Given the description of an element on the screen output the (x, y) to click on. 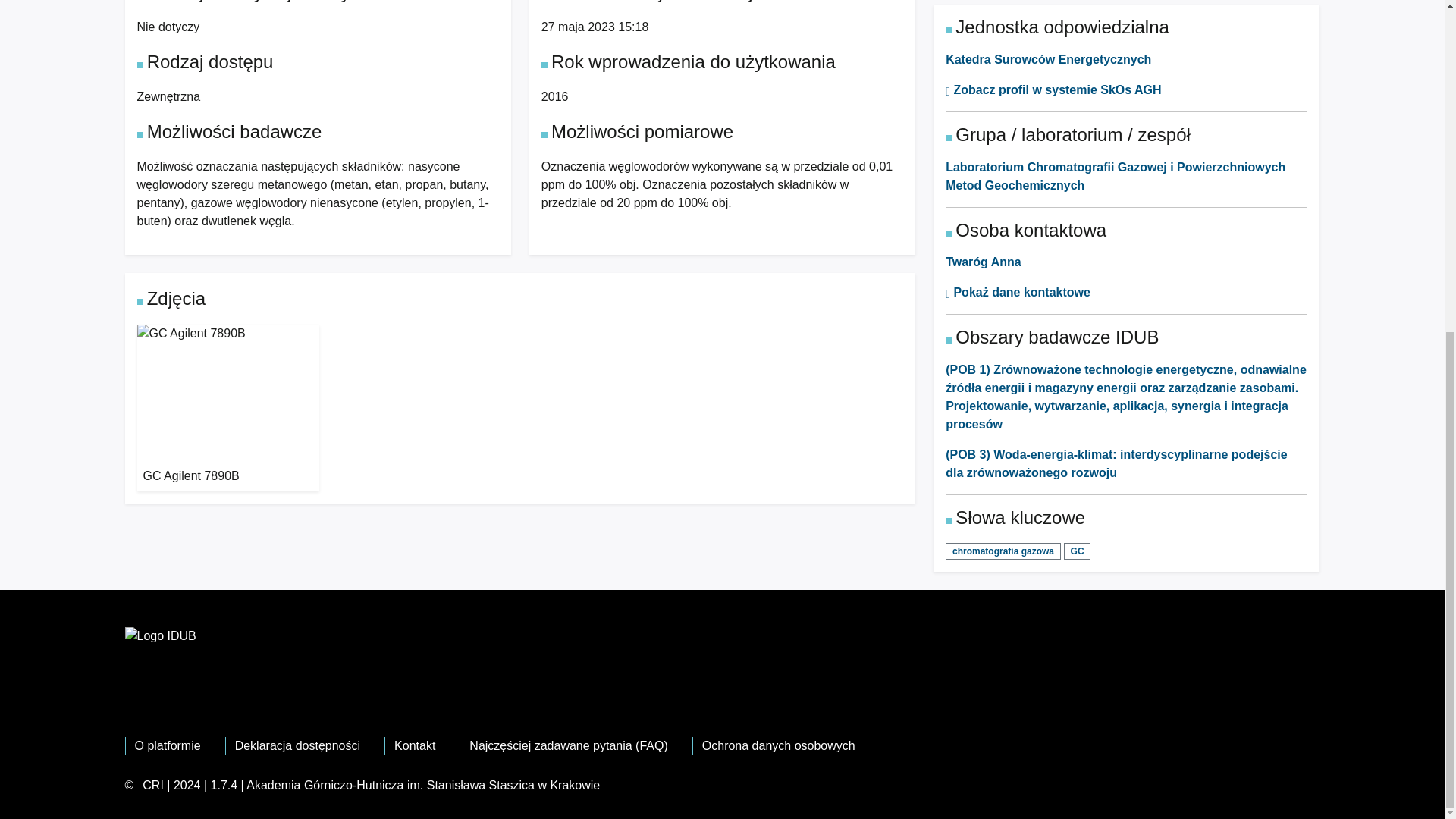
GC (1077, 550)
Kontakt (414, 745)
Zobacz profil w systemie SkOs AGH (1017, 291)
O platformie (167, 745)
Ochrona danych osobowych (778, 745)
CRI (152, 784)
Zobacz profil w systemie SkOs AGH (1052, 89)
chromatografia gazowa (1002, 550)
Zobacz profil w systemie SkOs AGH (1052, 89)
